Given the description of an element on the screen output the (x, y) to click on. 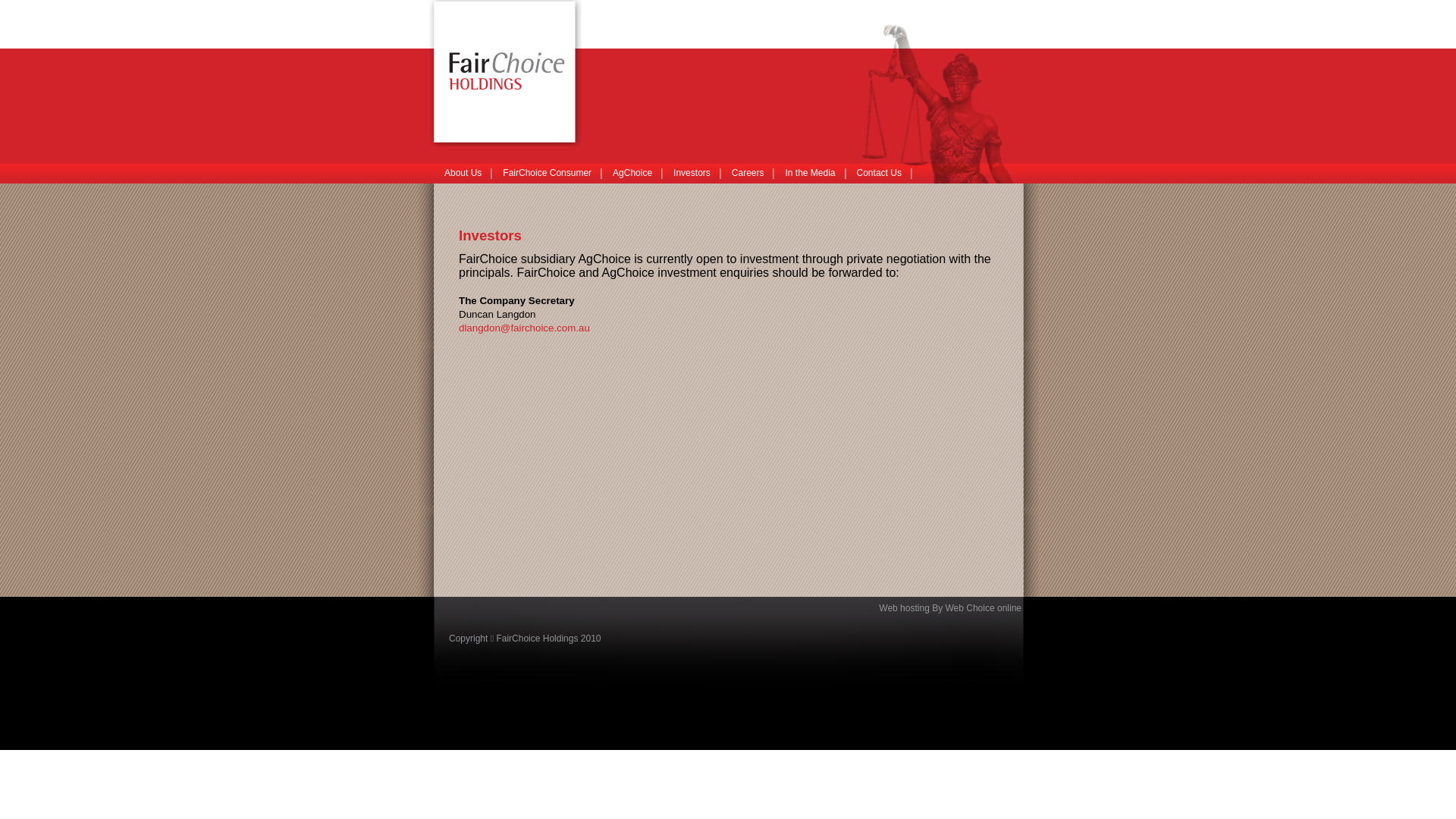
Web Choice online Element type: text (982, 607)
Contact Us Element type: text (879, 172)
AgChoice Element type: text (632, 172)
Logo Element type: hover (504, 73)
FairChoice Consumer Element type: text (547, 172)
dlangdon@fairchoice.com.au Element type: text (523, 327)
Careers Element type: text (748, 172)
Investors Element type: text (691, 172)
In the Media Element type: text (809, 172)
About Us Element type: text (462, 172)
